Given the description of an element on the screen output the (x, y) to click on. 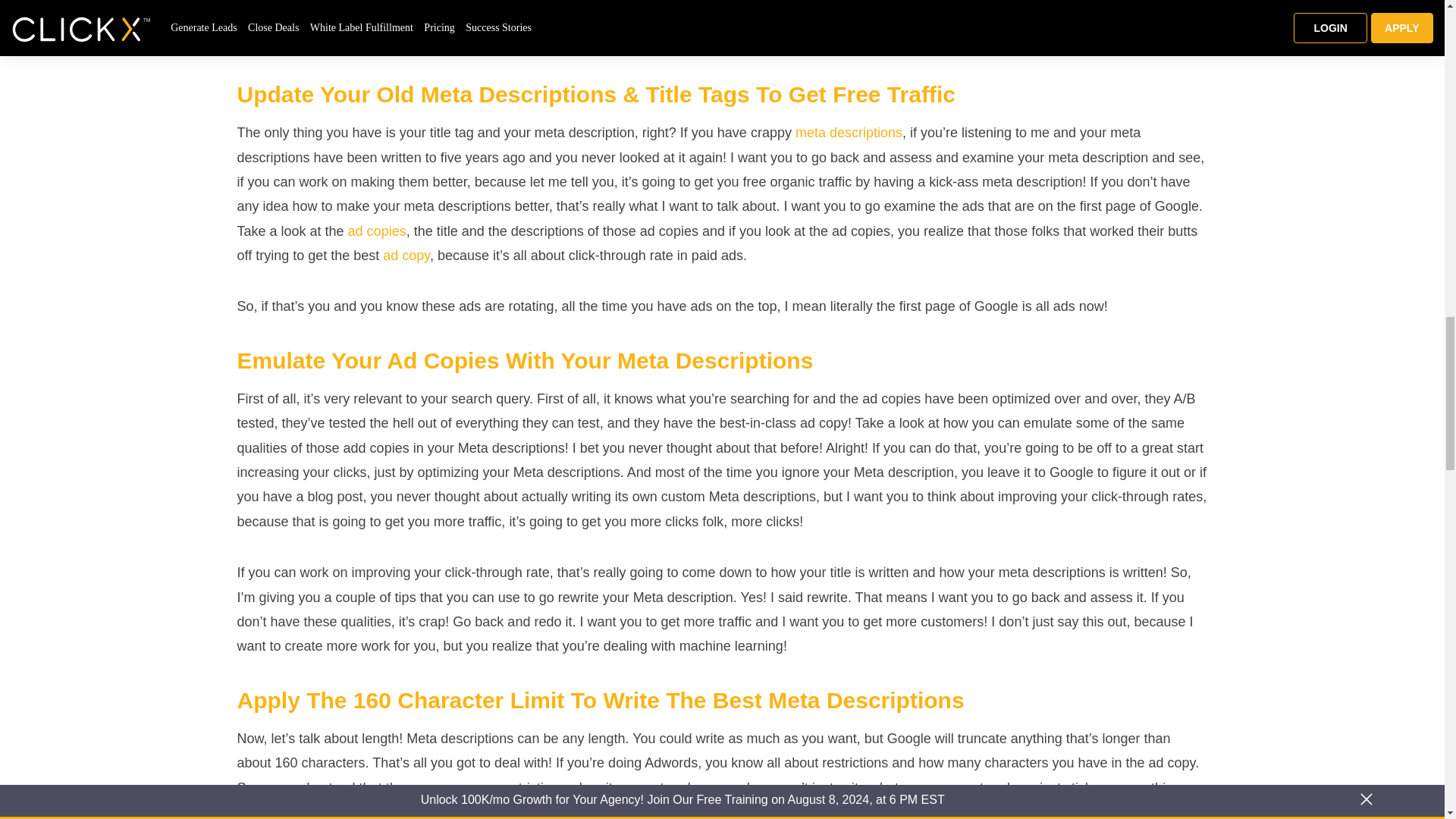
ad copies (376, 231)
ad copy (405, 255)
meta descriptions (848, 132)
